Given the description of an element on the screen output the (x, y) to click on. 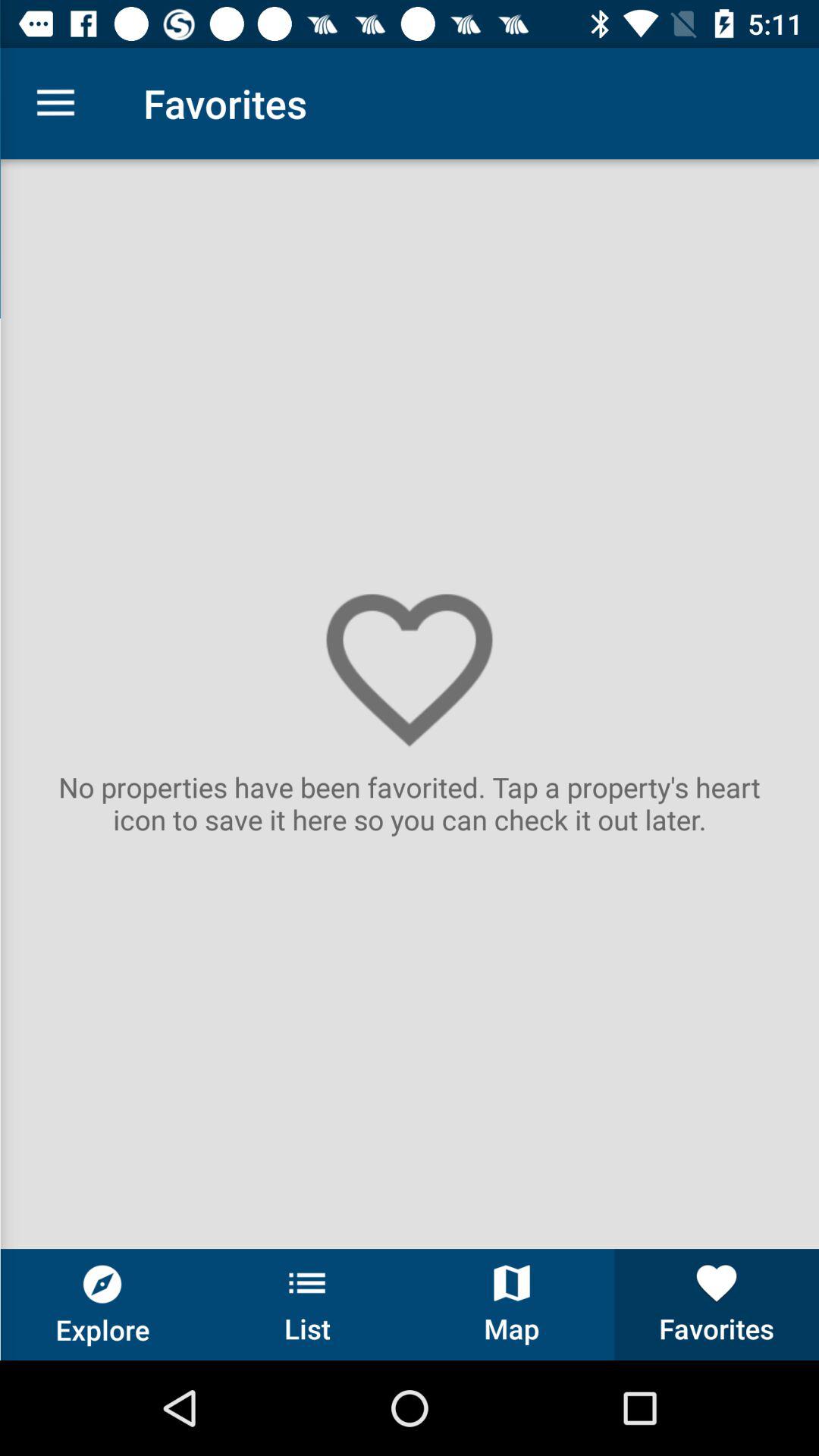
press button to the left of the favorites (511, 1304)
